Given the description of an element on the screen output the (x, y) to click on. 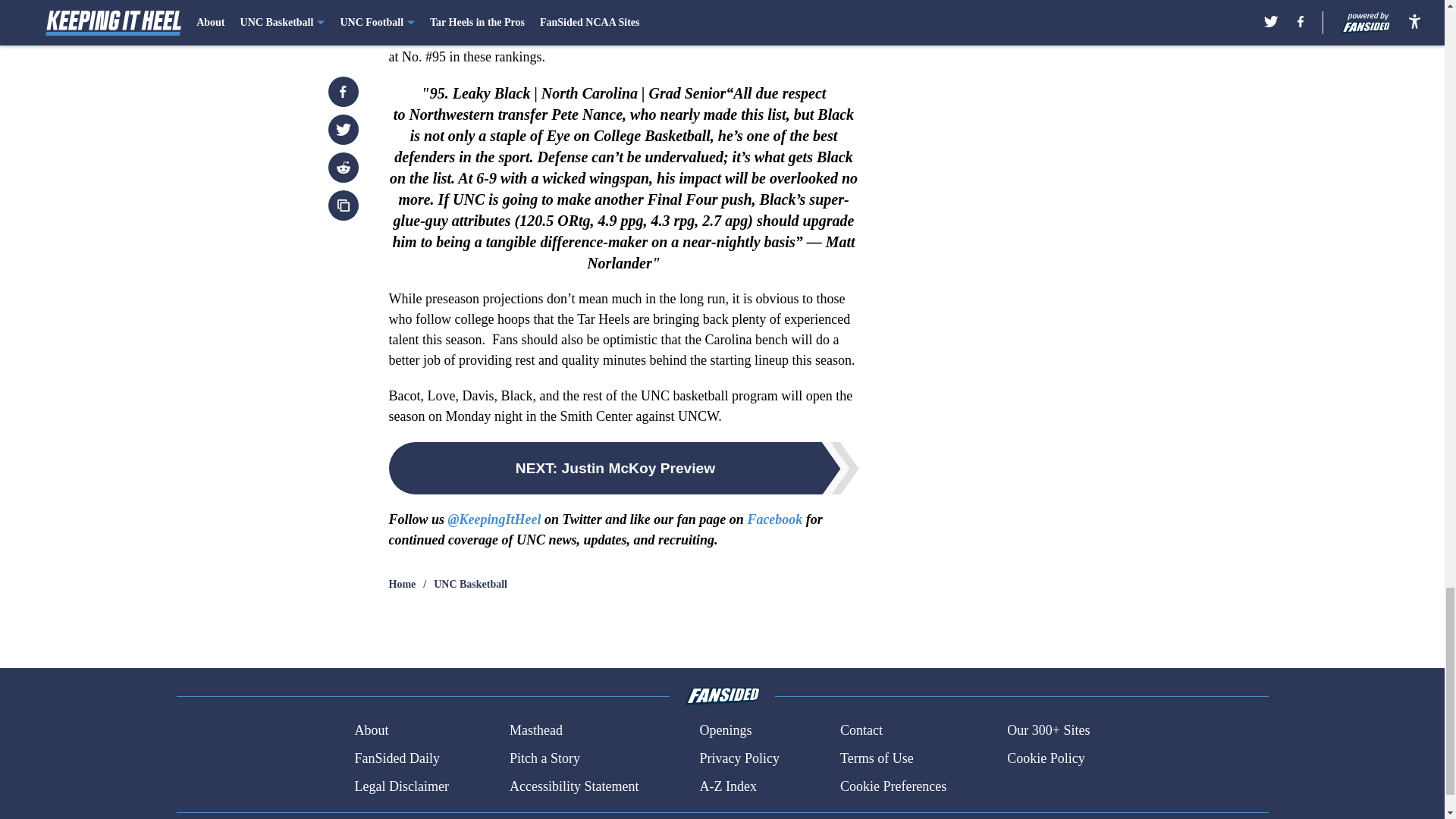
Masthead (535, 730)
Openings (724, 730)
About (370, 730)
Contact (861, 730)
Privacy Policy (738, 758)
NEXT: Justin McKoy Preview (623, 468)
Pitch a Story (544, 758)
UNC Basketball (469, 584)
Home (401, 584)
Facebook (774, 519)
